Given the description of an element on the screen output the (x, y) to click on. 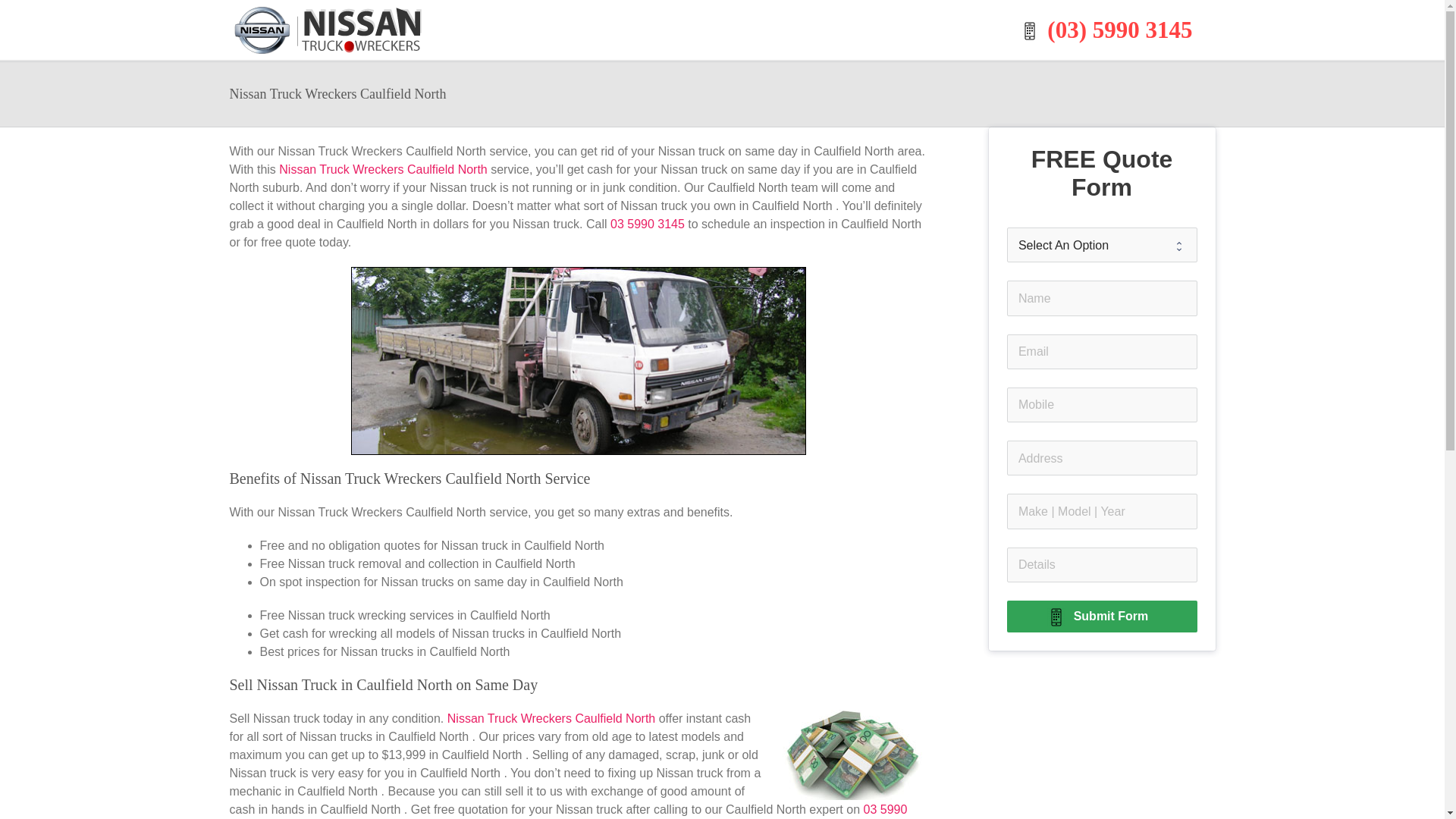
Nissan Truck Wreckers Caulfield North Element type: text (384, 169)
03 5990 3145 Element type: text (647, 223)
(03) 5990 3145 Element type: text (1110, 30)
Nissan Truck Wreckers Caulfield North Element type: text (552, 718)
Submit Form Element type: text (1102, 616)
